Given the description of an element on the screen output the (x, y) to click on. 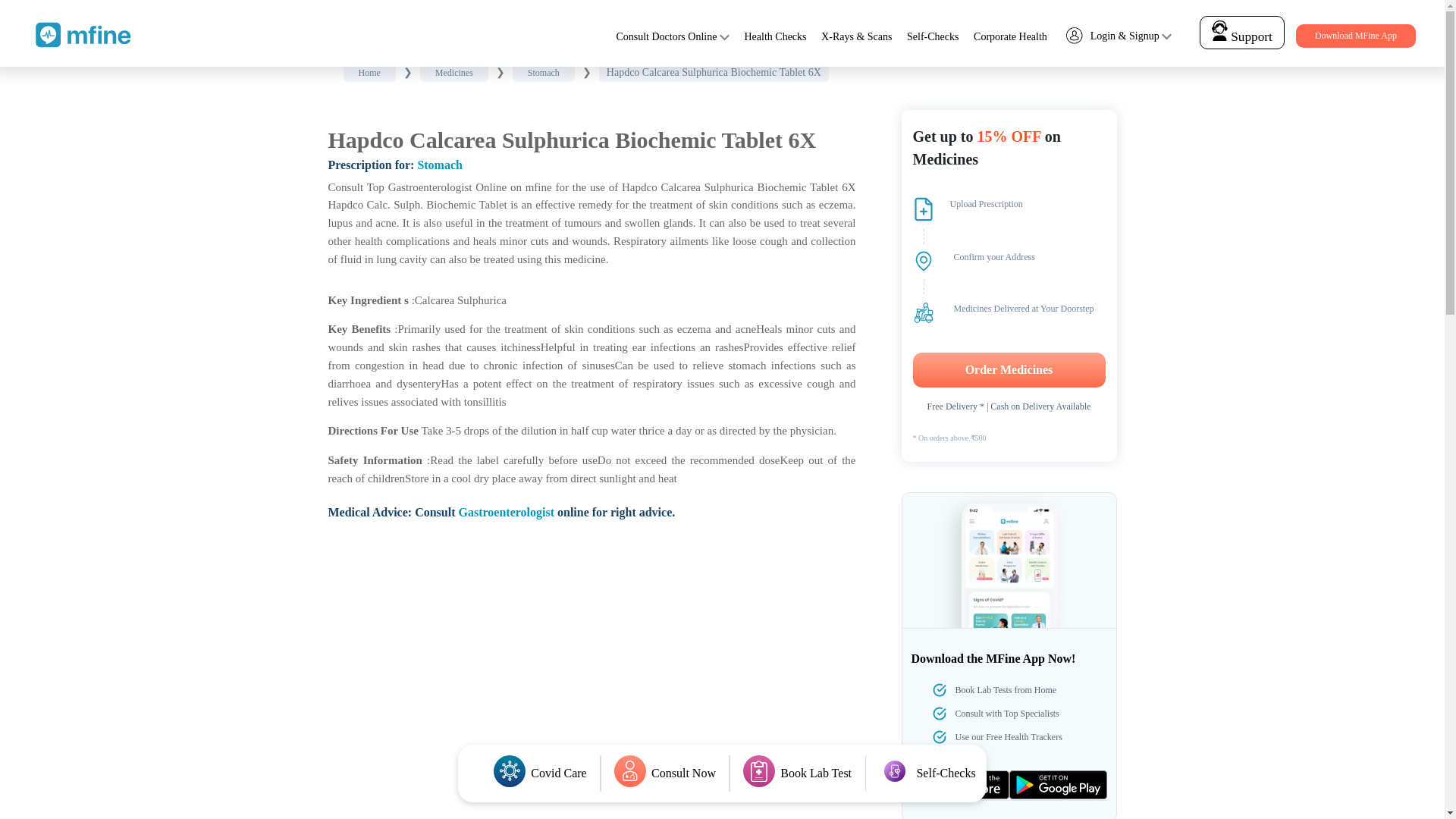
Support (1241, 36)
Support (1241, 32)
Consult Doctors Online (665, 36)
Download MFine App (1355, 35)
Self-Checks (932, 36)
Health Checks (775, 36)
Corporate Health (1010, 36)
